Given the description of an element on the screen output the (x, y) to click on. 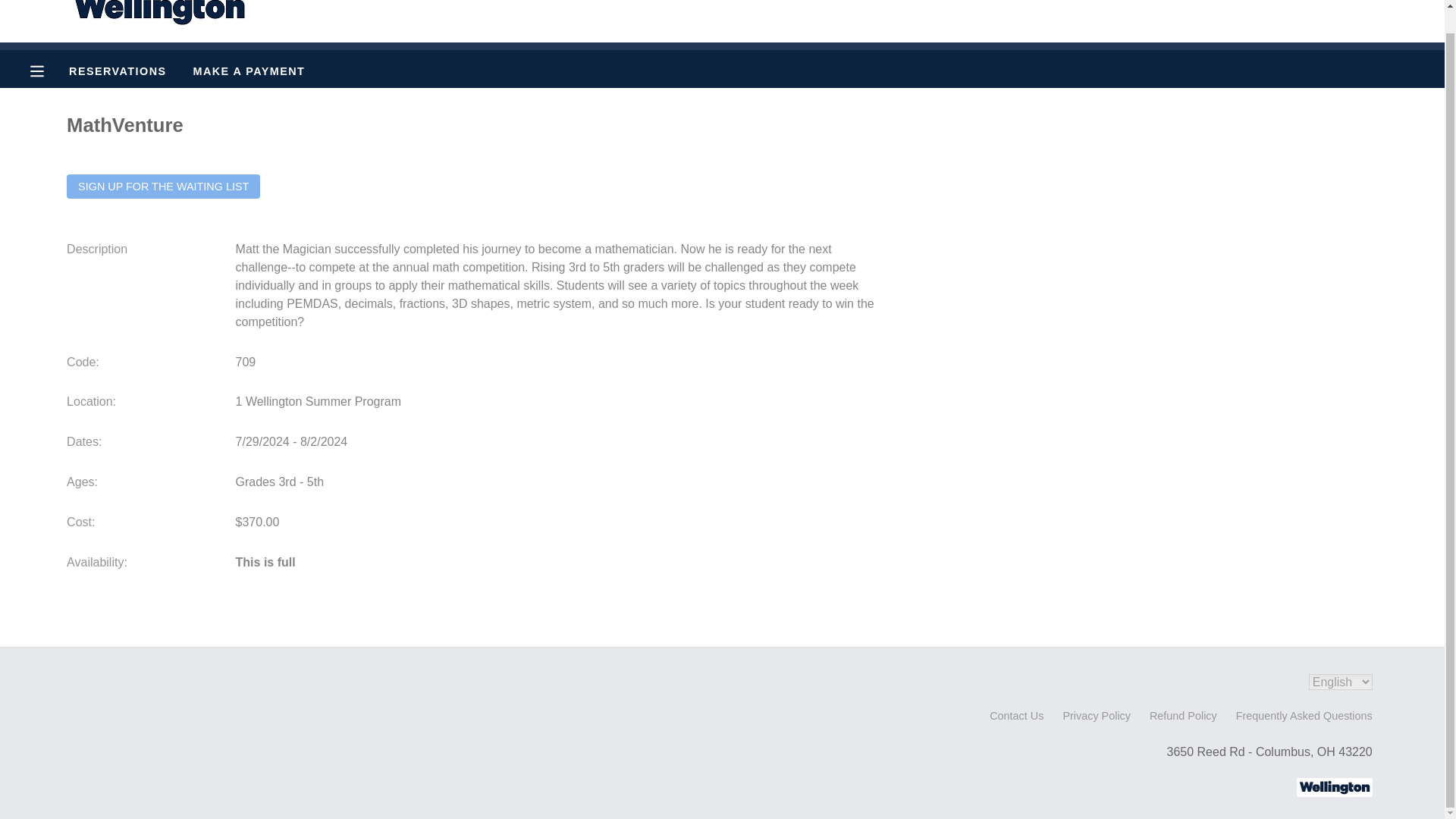
Contact Us (1016, 715)
MAKE A PAYMENT (249, 70)
Menu (48, 69)
Frequently Asked Questions (1304, 715)
Sign up for the waiting list (163, 186)
Privacy Policy (1096, 715)
Sign up for the waiting list (163, 186)
Refund Policy (1183, 715)
RESERVATIONS (116, 70)
